Given the description of an element on the screen output the (x, y) to click on. 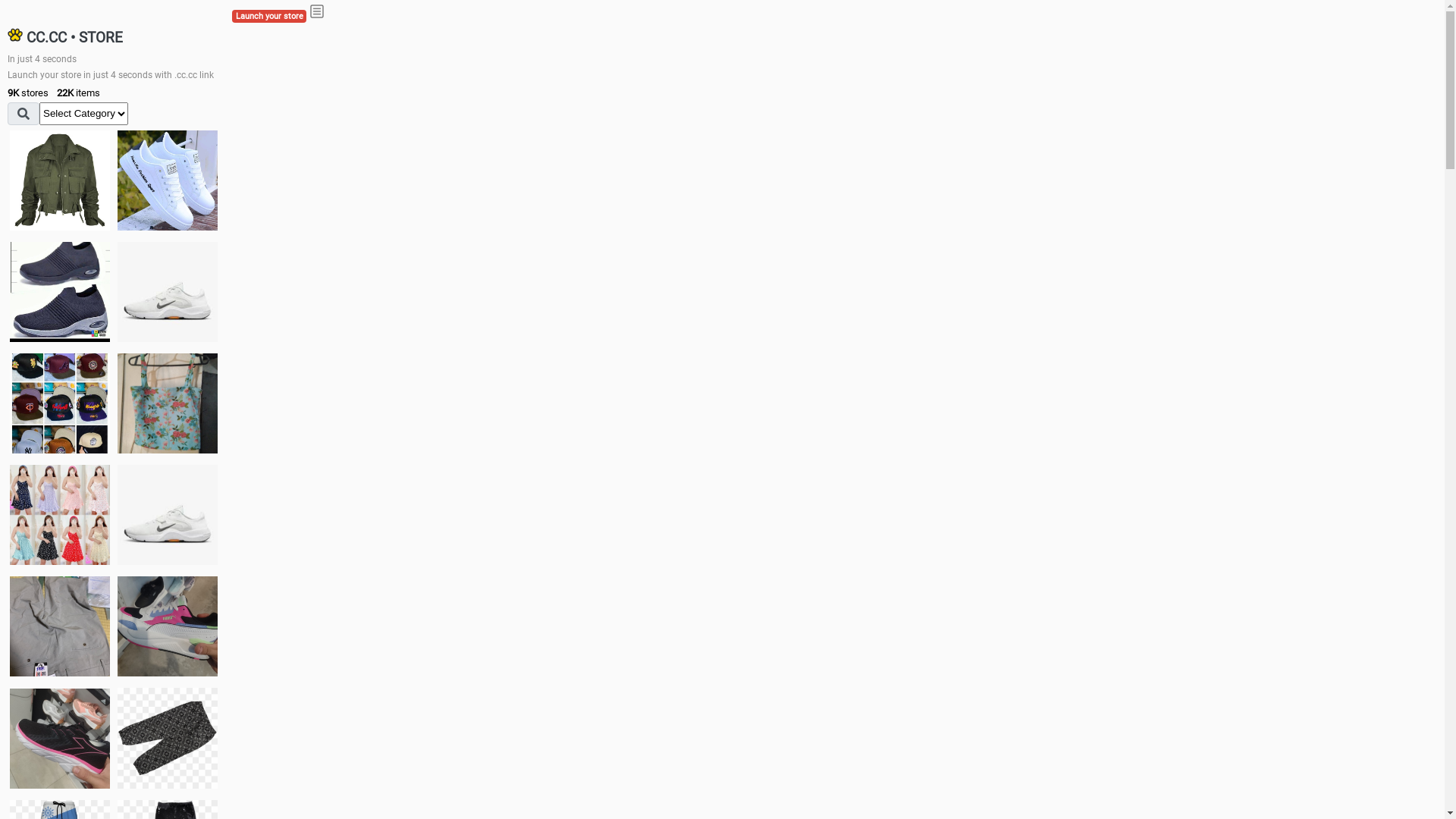
white shoes Element type: hover (167, 180)
Ukay cloth Element type: hover (167, 403)
Things we need Element type: hover (59, 403)
Zapatillas pumas Element type: hover (167, 626)
Short pant Element type: hover (167, 737)
Launch your store Element type: text (269, 15)
Dress/square nect top Element type: hover (59, 514)
Shoes for boys Element type: hover (167, 291)
shoes for boys Element type: hover (59, 291)
jacket Element type: hover (59, 180)
Zapatillas Element type: hover (59, 738)
Shoes Element type: hover (167, 514)
